Given the description of an element on the screen output the (x, y) to click on. 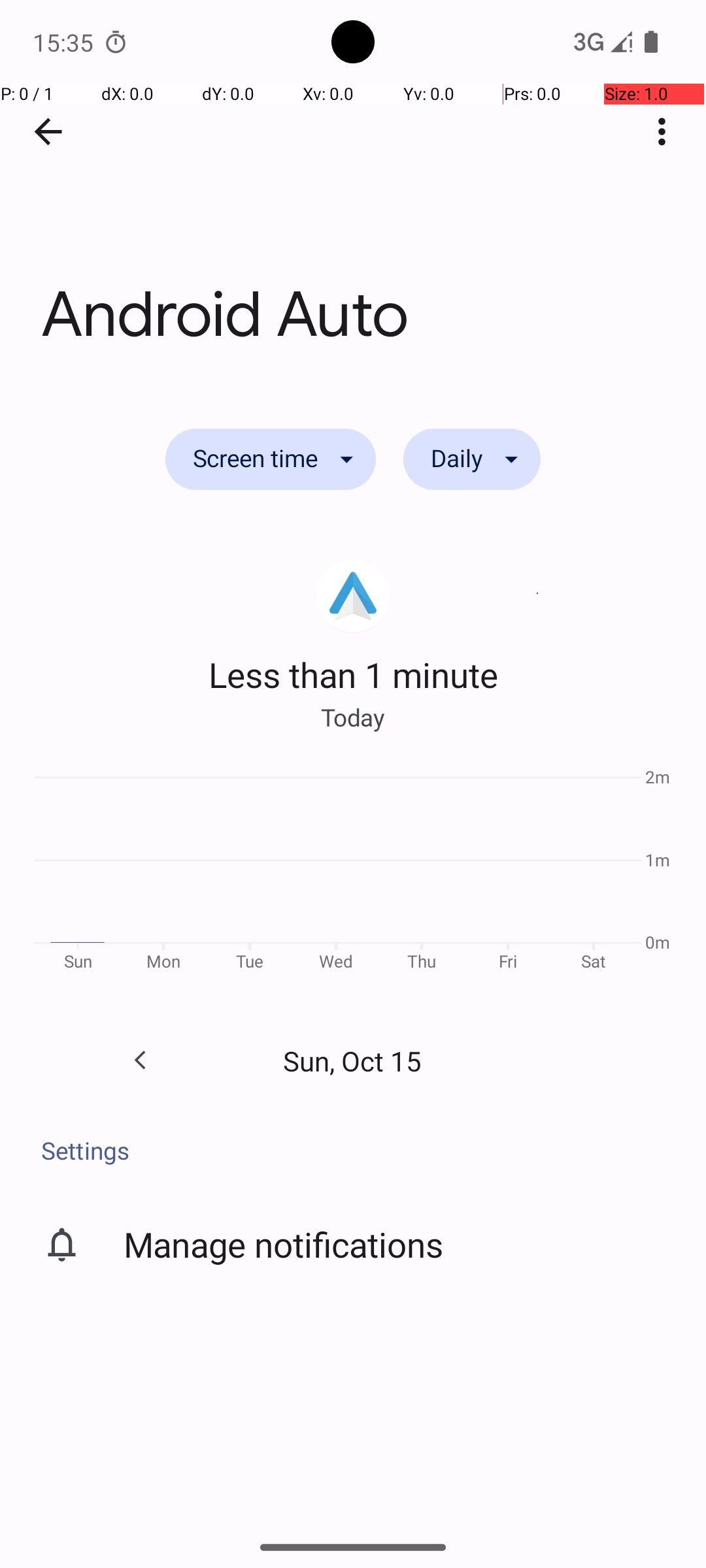
Less than 1 minute Element type: android.widget.TextView (353, 674)
Bar Chart. Showing App usage data with 7 data points. Element type: android.view.ViewGroup (353, 873)
